Given the description of an element on the screen output the (x, y) to click on. 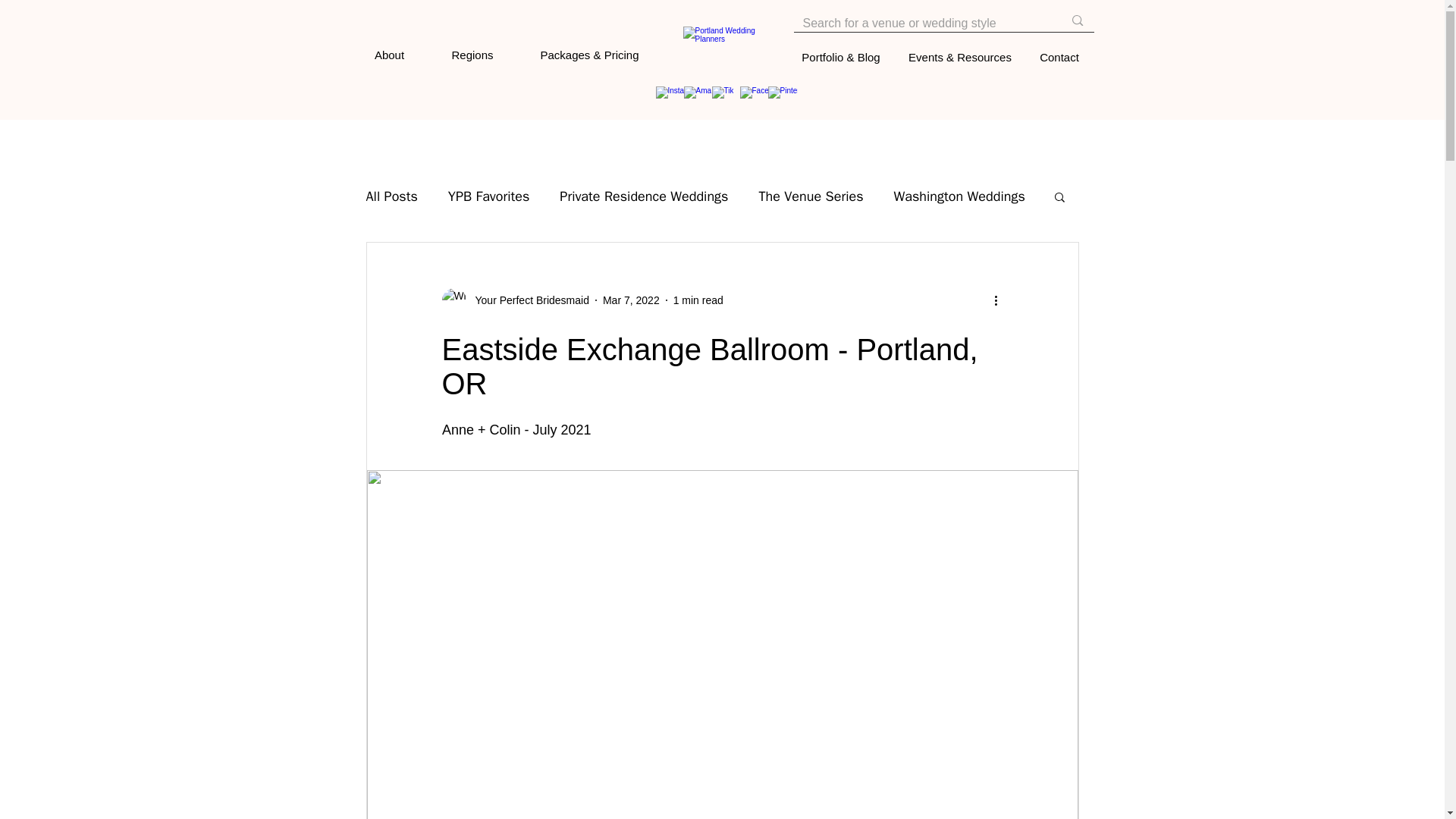
Private Residence Weddings (643, 196)
Contact (1059, 57)
The Venue Series (810, 196)
YPB Favorites (488, 196)
1 min read (697, 300)
Washington Weddings (959, 196)
Mar 7, 2022 (630, 300)
All Posts (390, 196)
Your Perfect Bridesmaid (526, 300)
